Given the description of an element on the screen output the (x, y) to click on. 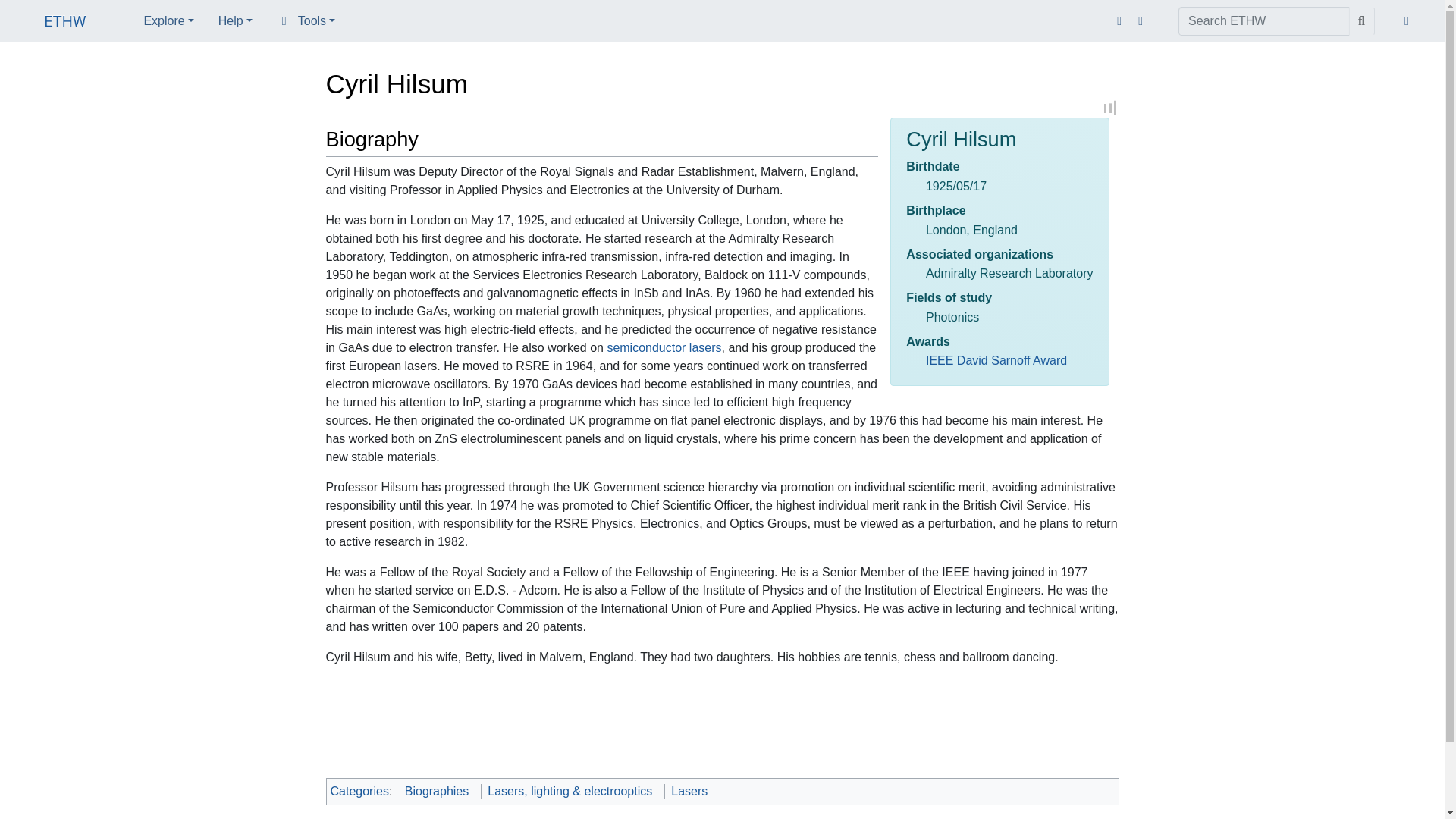
semiconductor lasers (663, 347)
Visit the main page (65, 22)
IEEE David Sarnoff Award (996, 359)
Go to a page with this exact name if it exists (1361, 21)
Help (235, 20)
Explore (168, 20)
Tools (305, 20)
Go (1361, 21)
